Given the description of an element on the screen output the (x, y) to click on. 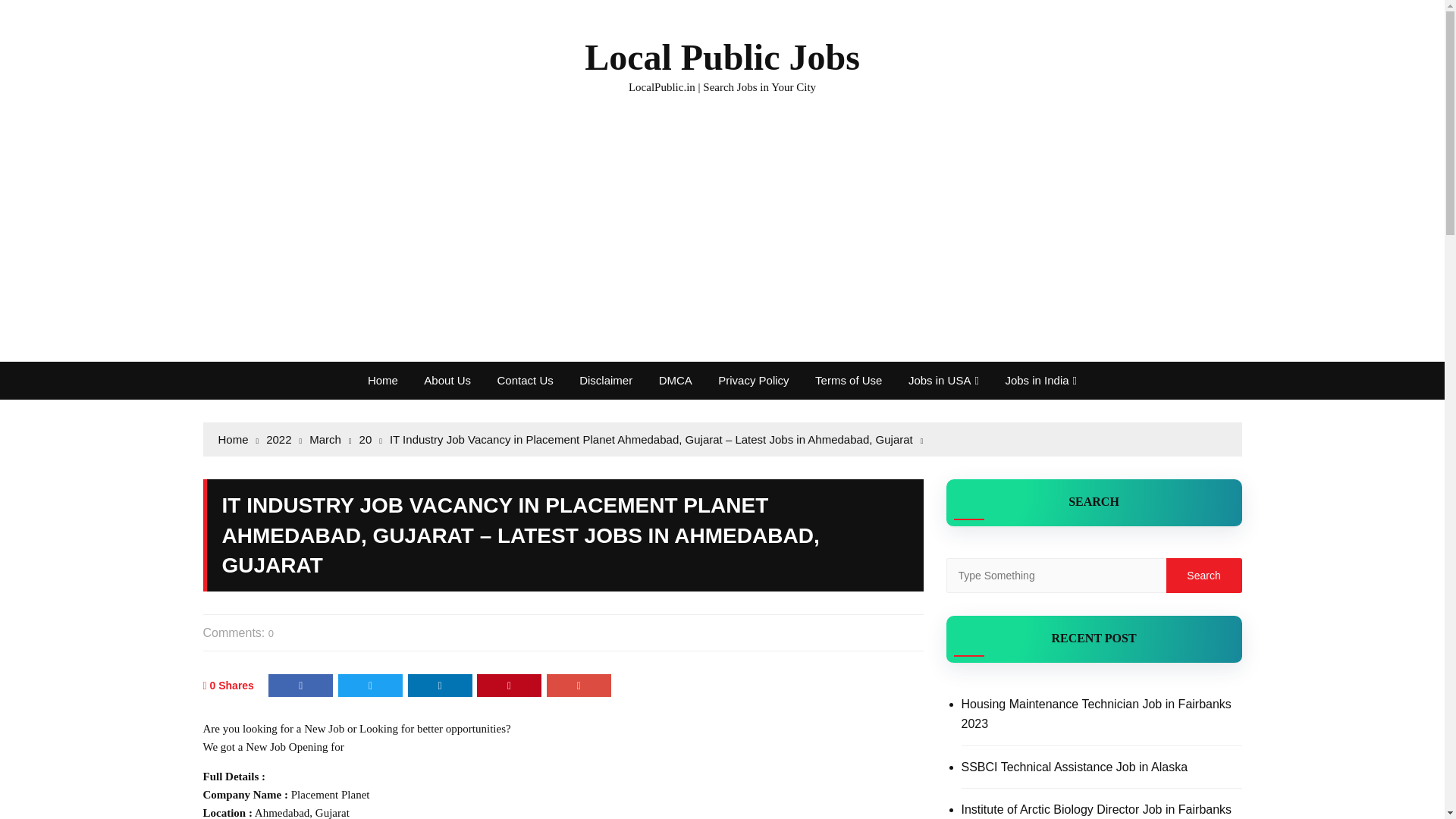
Privacy Policy (752, 380)
Jobs in USA (943, 380)
Terms of Use (848, 380)
DMCA (675, 380)
Disclaimer (605, 380)
About Us (446, 380)
Home (382, 380)
Contact Us (525, 380)
Jobs in India (1039, 380)
